Given the description of an element on the screen output the (x, y) to click on. 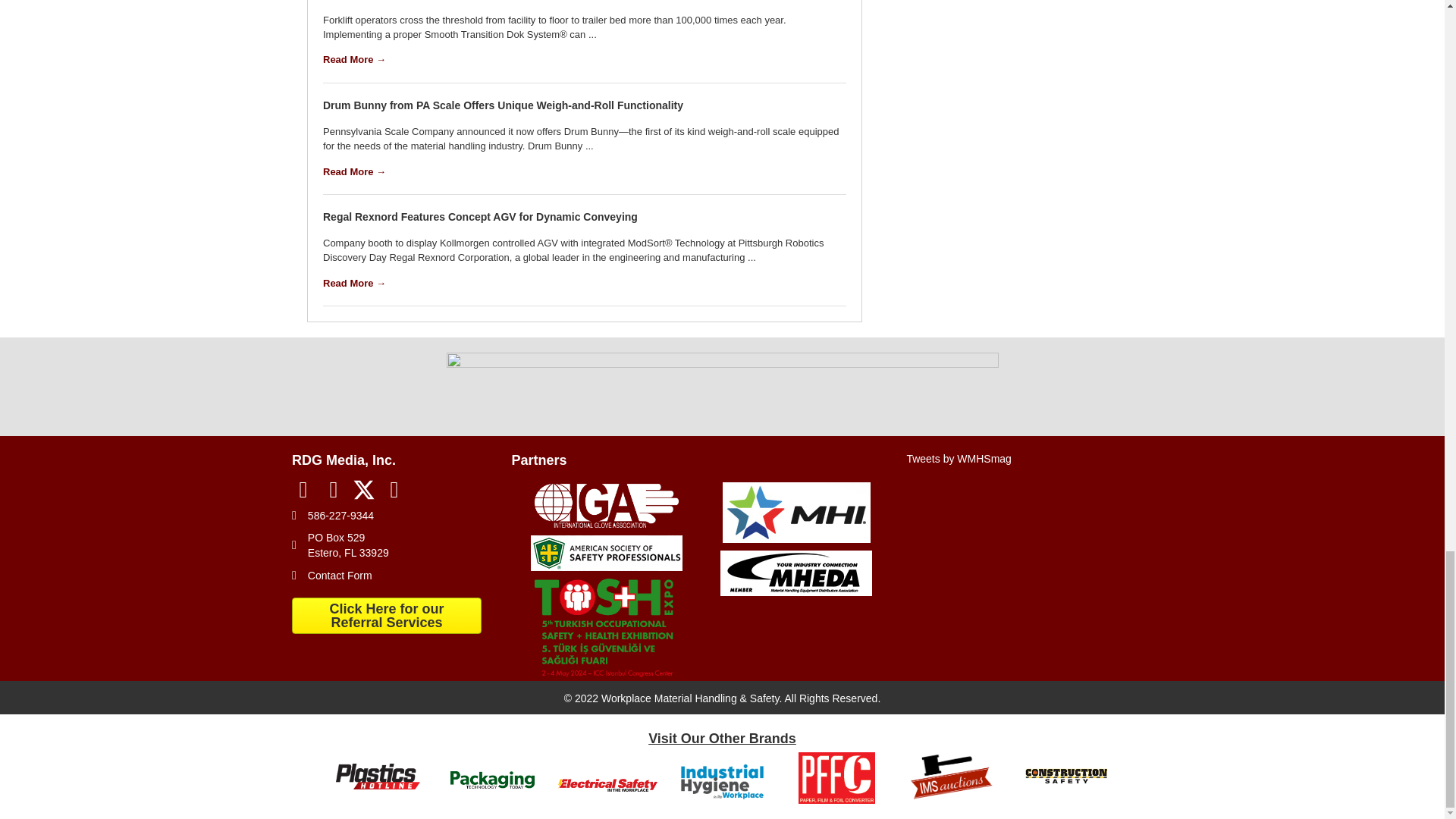
YouTube (393, 490)
LinkedIn (333, 490)
Regal Rexnord Features Concept AGV for Dynamic Conveying (480, 216)
Facebook (303, 490)
